Given the description of an element on the screen output the (x, y) to click on. 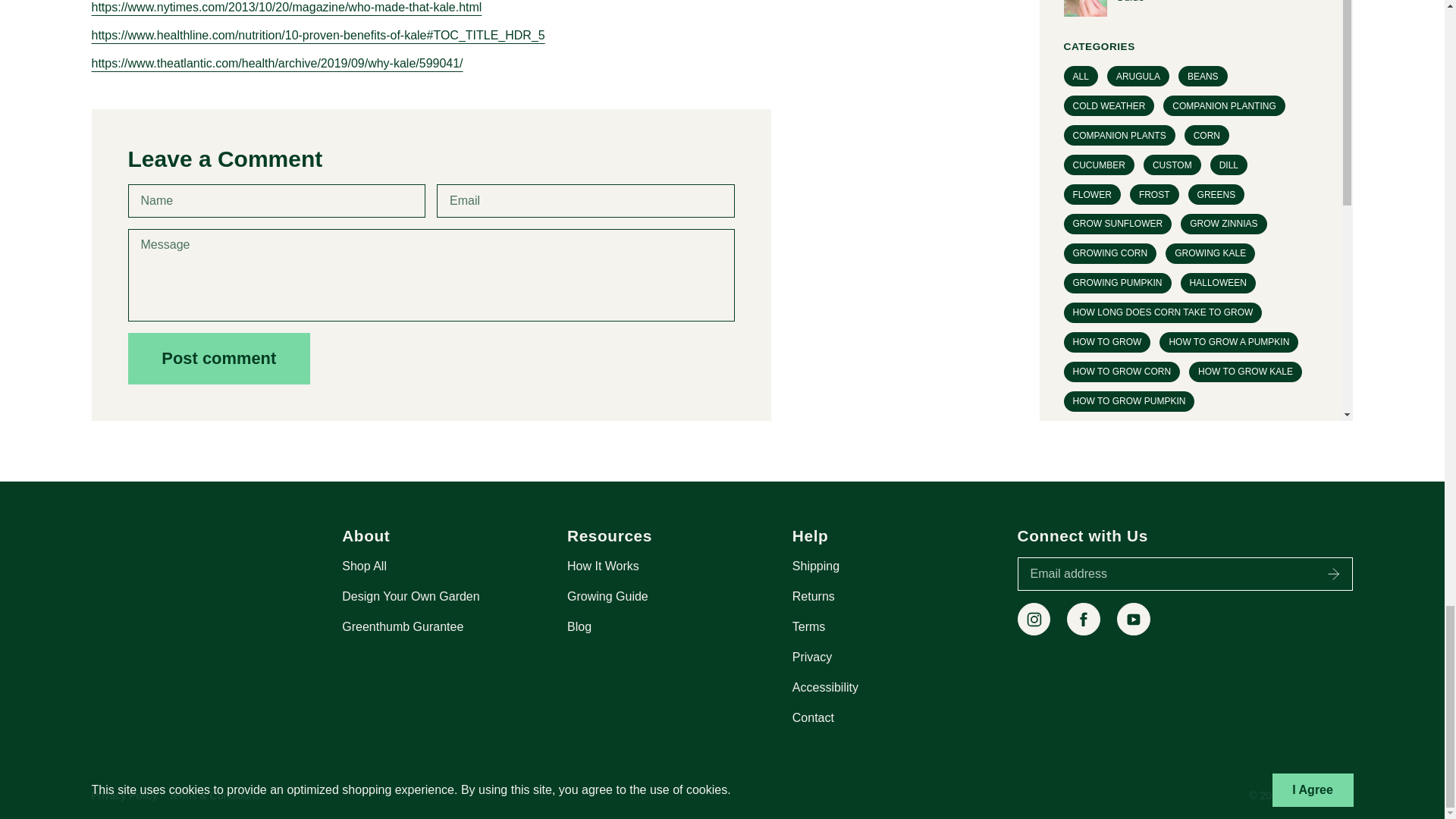
Opens new window (1034, 619)
Post comment (219, 358)
Opens new window (1133, 619)
Opens new window (1083, 619)
